Given the description of an element on the screen output the (x, y) to click on. 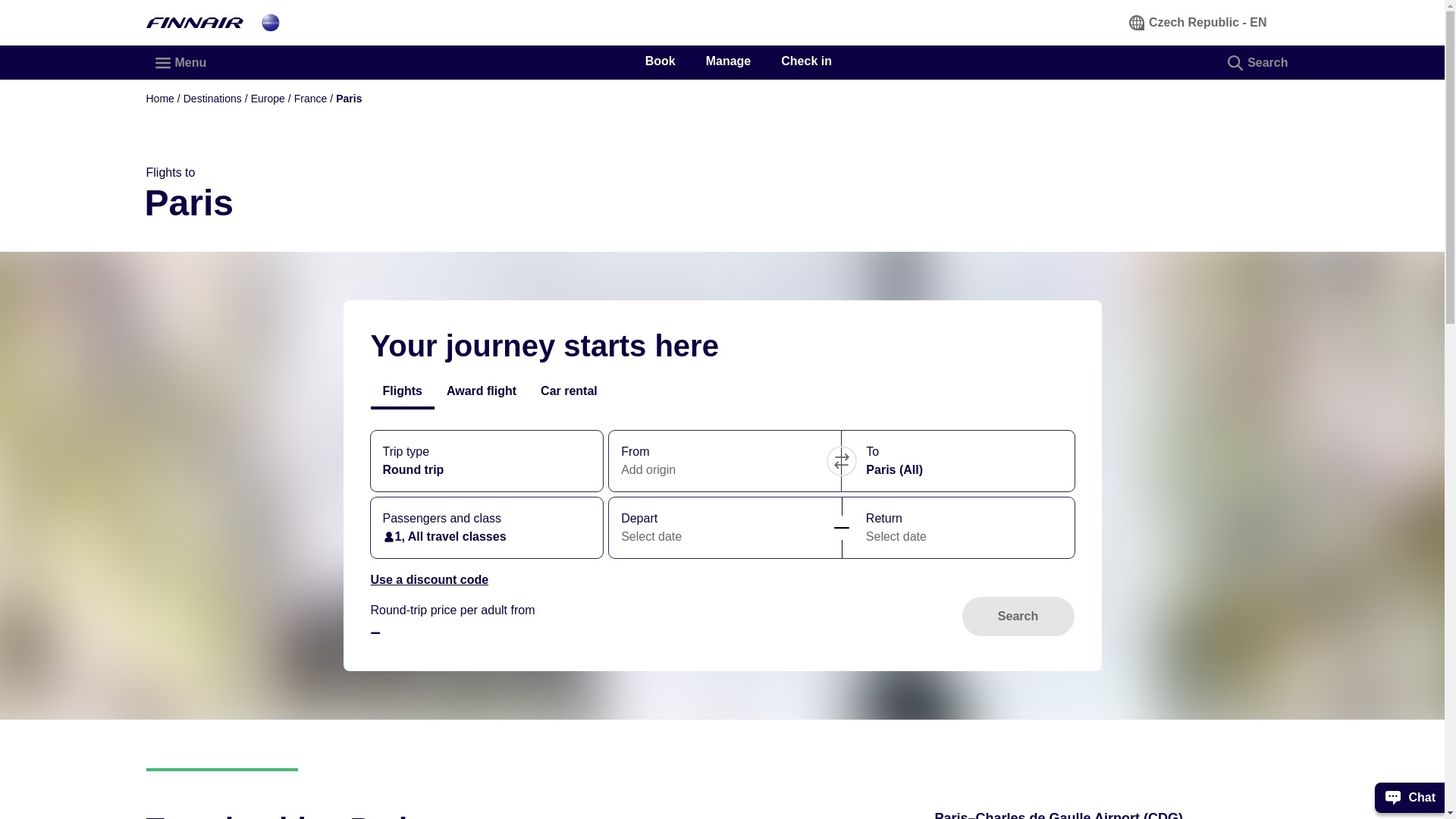
Check in (805, 61)
Search (1258, 61)
Menu (180, 61)
Book (660, 61)
Manage (728, 61)
Czech Republic - EN (1198, 22)
